Given the description of an element on the screen output the (x, y) to click on. 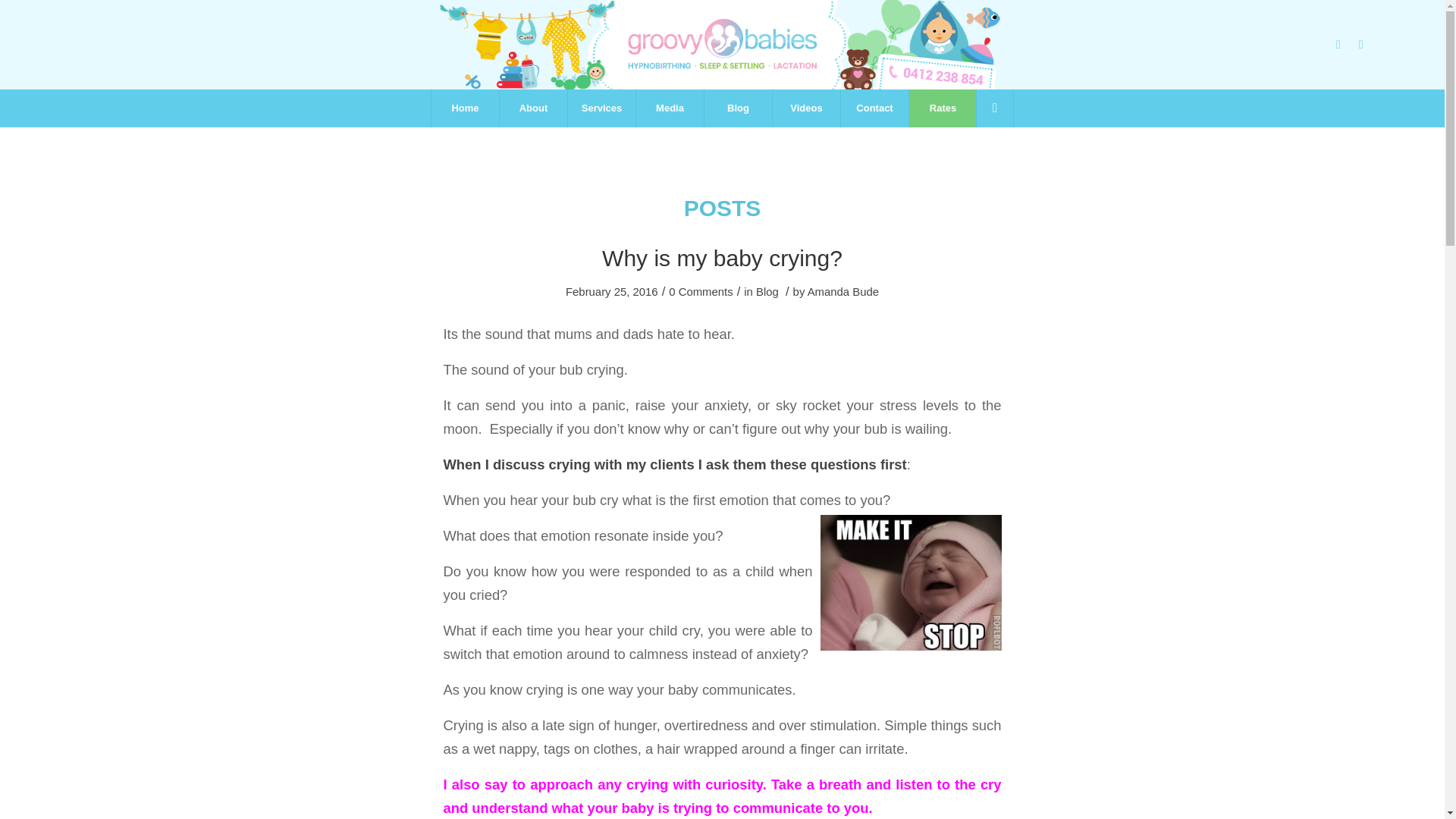
Blog (766, 291)
About (533, 108)
0 Comments (700, 291)
Media (668, 108)
Videos (805, 108)
Services (600, 108)
Posts by Amanda Bude (843, 291)
Rates (942, 108)
Facebook (1337, 44)
Blog (737, 108)
Instagram (1361, 44)
Contact (874, 108)
Amanda Bude (843, 291)
Why is my baby crying? (722, 258)
Home (464, 108)
